Given the description of an element on the screen output the (x, y) to click on. 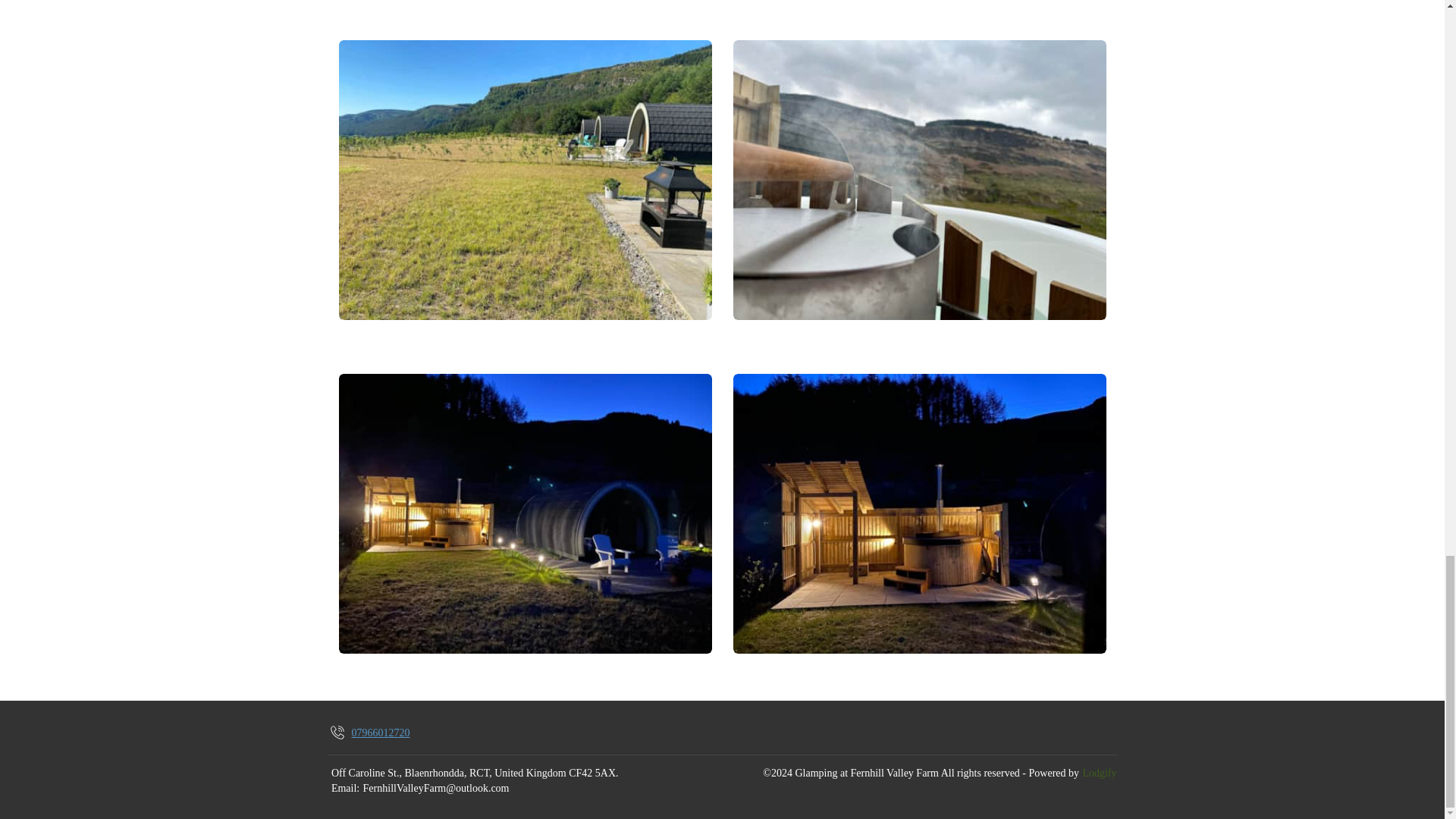
Image Title (918, 180)
Image Title (524, 513)
07966012720 (368, 732)
Image Title (524, 180)
Lodgify (1098, 773)
Image Title (918, 513)
